Given the description of an element on the screen output the (x, y) to click on. 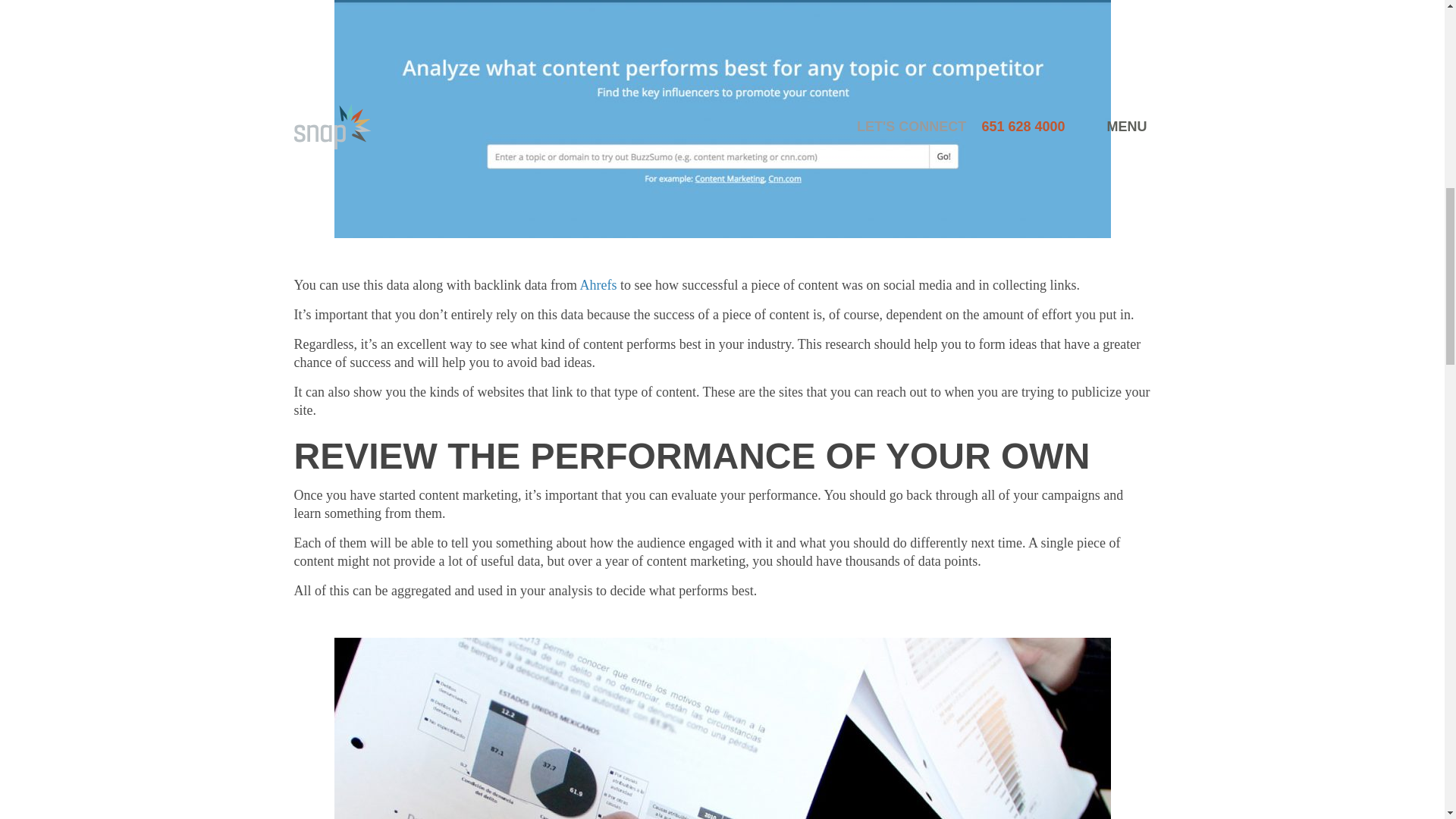
Ahrefs (598, 284)
